Given the description of an element on the screen output the (x, y) to click on. 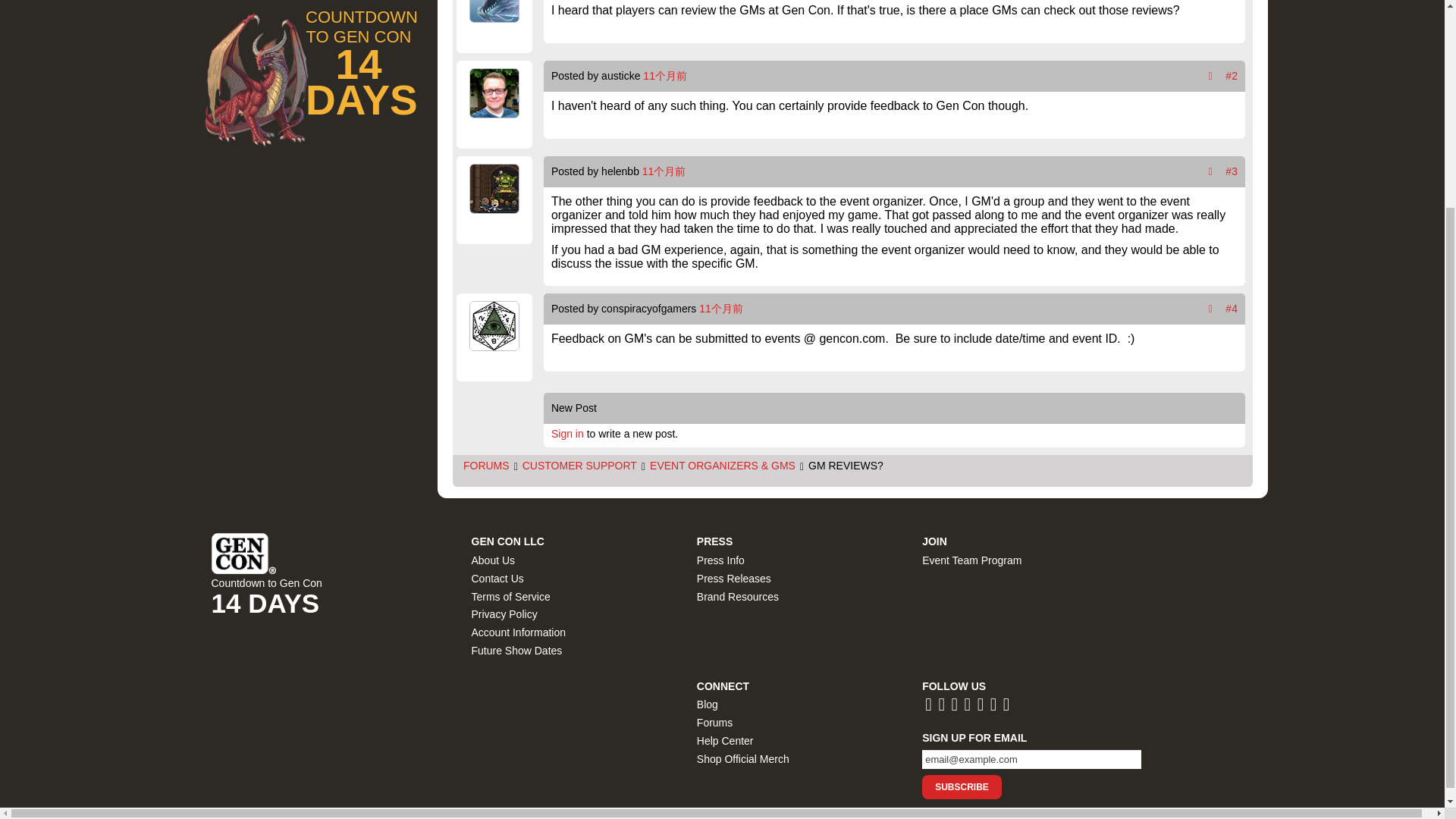
Link (1231, 171)
Reply to Post (1210, 171)
Link (1231, 75)
Link (1231, 308)
Reply to Post (1210, 75)
Reply to Post (1210, 308)
Subscribe (961, 786)
